Given the description of an element on the screen output the (x, y) to click on. 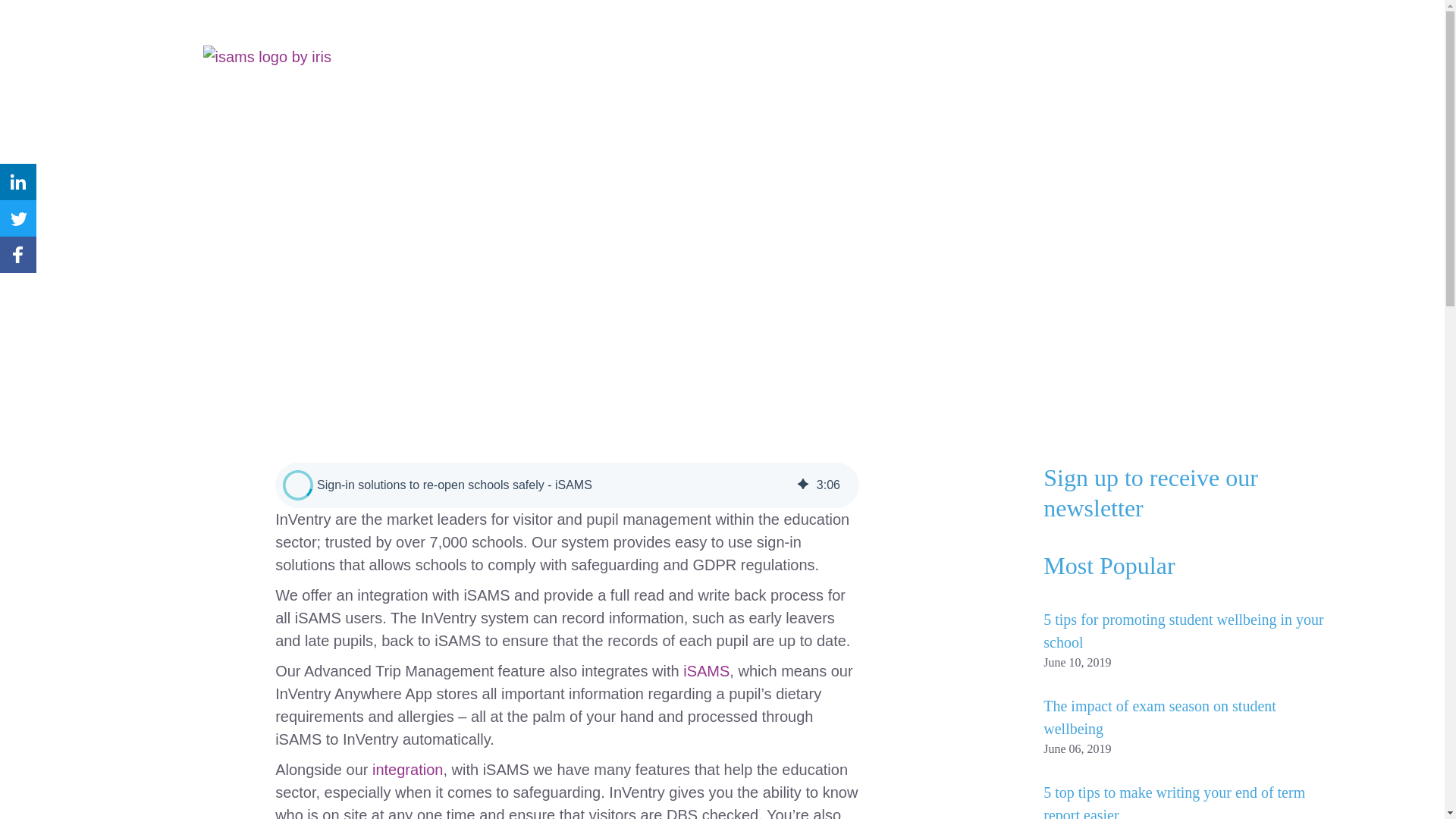
linkedin (18, 181)
Products (866, 88)
facebook (18, 254)
Solutions (780, 88)
Services (950, 88)
twitter (18, 217)
Contact Us (1195, 51)
isams logo by iris (271, 56)
Identity Portal (1024, 51)
Support (1104, 51)
